Given the description of an element on the screen output the (x, y) to click on. 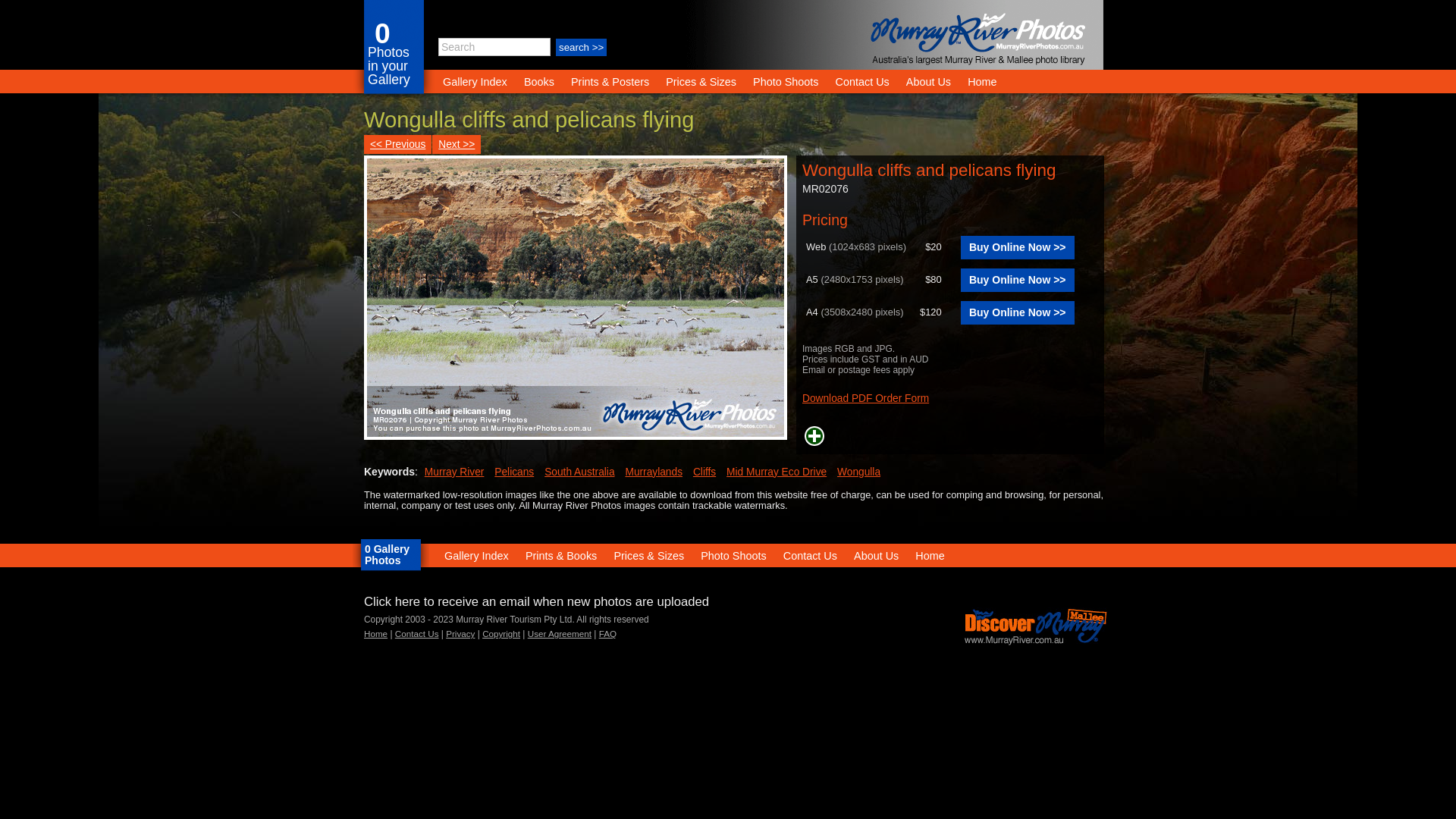
Download PDF Order Form Element type: text (865, 398)
0 Element type: text (382, 33)
Contact Us Element type: text (810, 555)
Home Element type: text (929, 555)
About Us Element type: text (928, 81)
Copyright Element type: text (501, 633)
Buy Online Now >> Element type: text (1017, 279)
Books Element type: text (539, 81)
Privacy Element type: text (459, 633)
About Us Element type: text (876, 555)
Buy Online Now >> Element type: text (1017, 247)
Photos
in your
Gallery Element type: text (392, 58)
Home Element type: text (375, 633)
Click here to receive an email when new photos are uploaded Element type: text (536, 601)
User Agreement Element type: text (559, 633)
FAQ Element type: text (607, 633)
Next >> Element type: text (456, 143)
Gallery Index Element type: text (475, 81)
Add this image to your gallery Element type: hover (814, 435)
Prices & Sizes Element type: text (648, 555)
Prints & Books Element type: text (560, 555)
search >> Element type: text (580, 47)
Photo Shoots Element type: text (732, 555)
<< Previous Element type: text (397, 143)
Pelicans Element type: text (513, 471)
Buy Online Now >> Element type: text (1017, 312)
Mid Murray Eco Drive Element type: text (776, 471)
Home Element type: text (981, 81)
Prints & Posters Element type: text (611, 81)
Prices & Sizes Element type: text (700, 81)
Photo Shoots Element type: text (785, 81)
Wongulla Element type: text (858, 471)
Contact Us Element type: text (417, 633)
Murraylands Element type: text (653, 471)
Murray River Element type: text (454, 471)
South Australia Element type: text (579, 471)
Gallery Index Element type: text (476, 555)
Contact Us Element type: text (862, 81)
Cliffs Element type: text (704, 471)
